Given the description of an element on the screen output the (x, y) to click on. 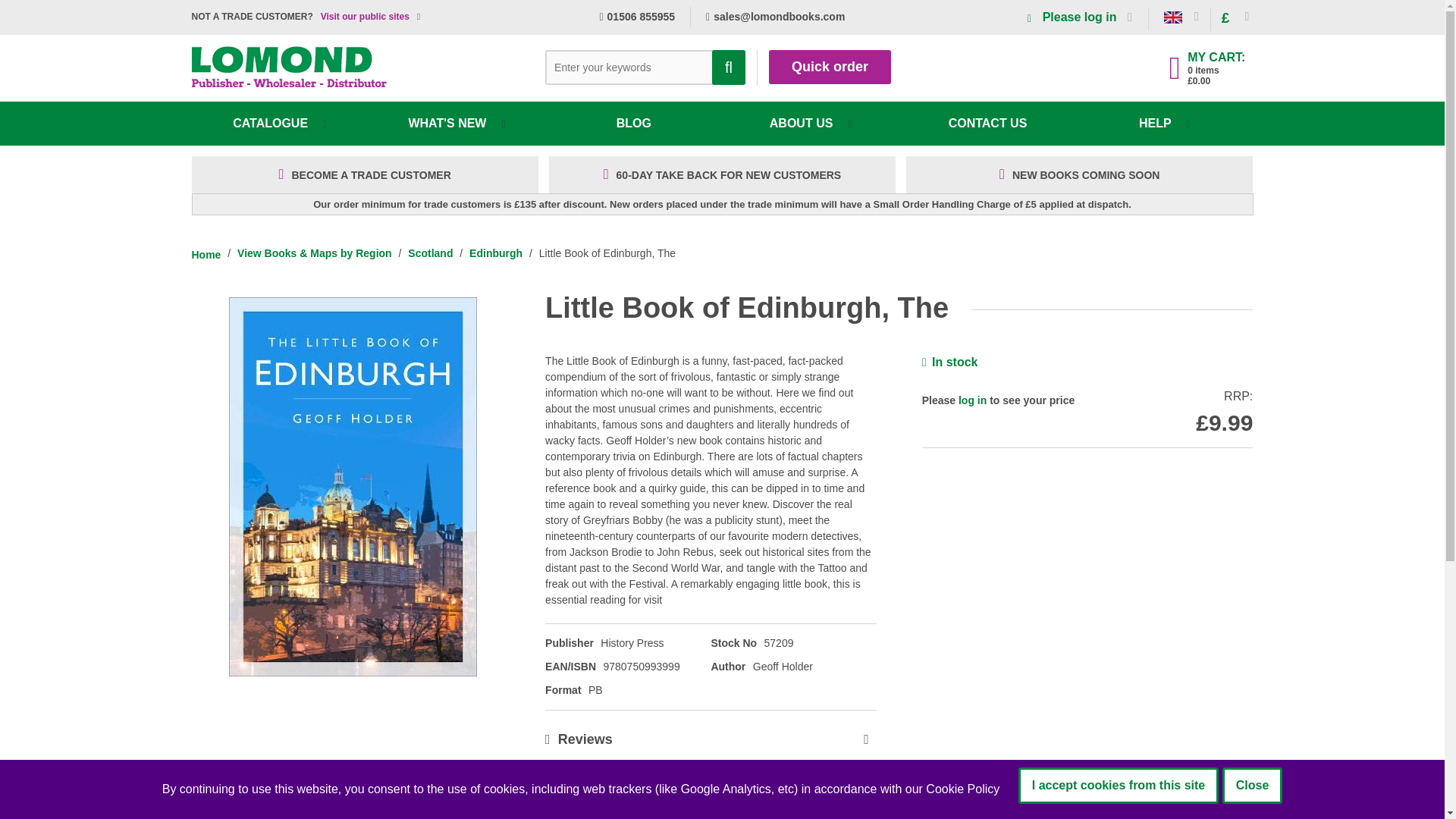
English (1172, 17)
Quick order (829, 66)
01506 855955 (636, 17)
Please log in (1079, 17)
Visit our public sites (364, 16)
History Press (631, 643)
